Given the description of an element on the screen output the (x, y) to click on. 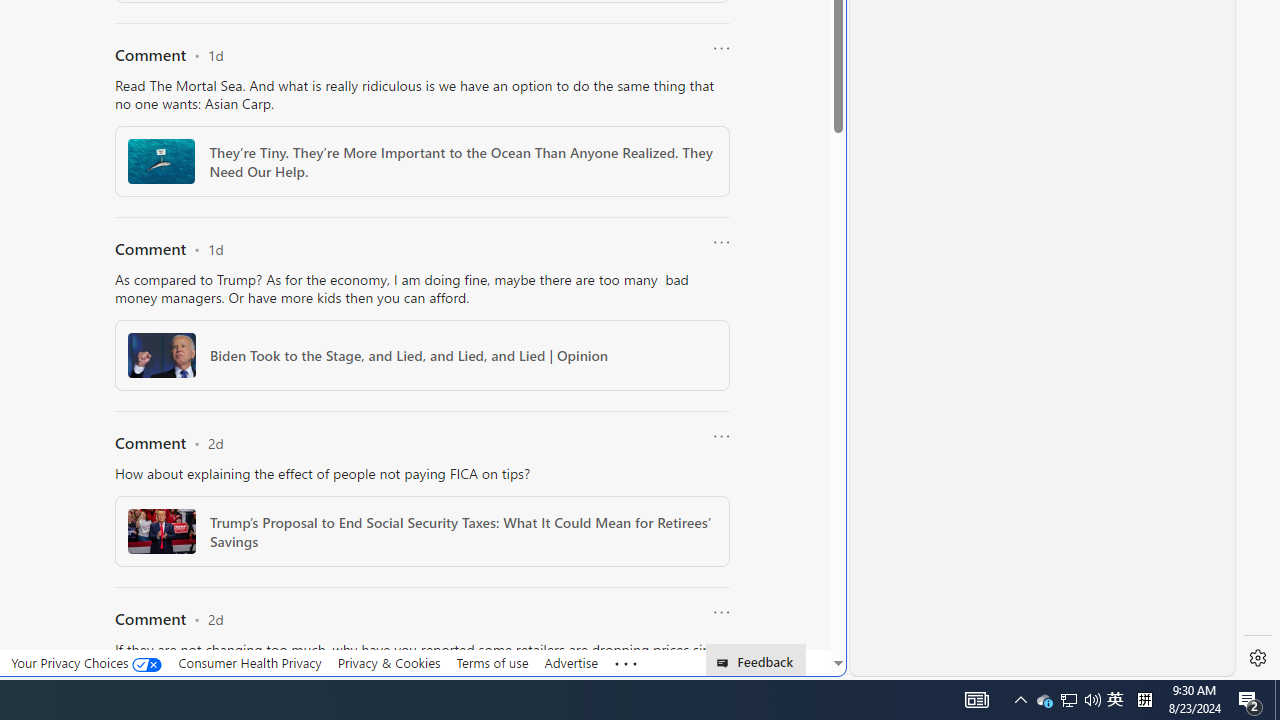
Class: oneFooter_seeMore-DS-EntryPoint1-1 (625, 663)
Content thumbnail (160, 531)
